Given the description of an element on the screen output the (x, y) to click on. 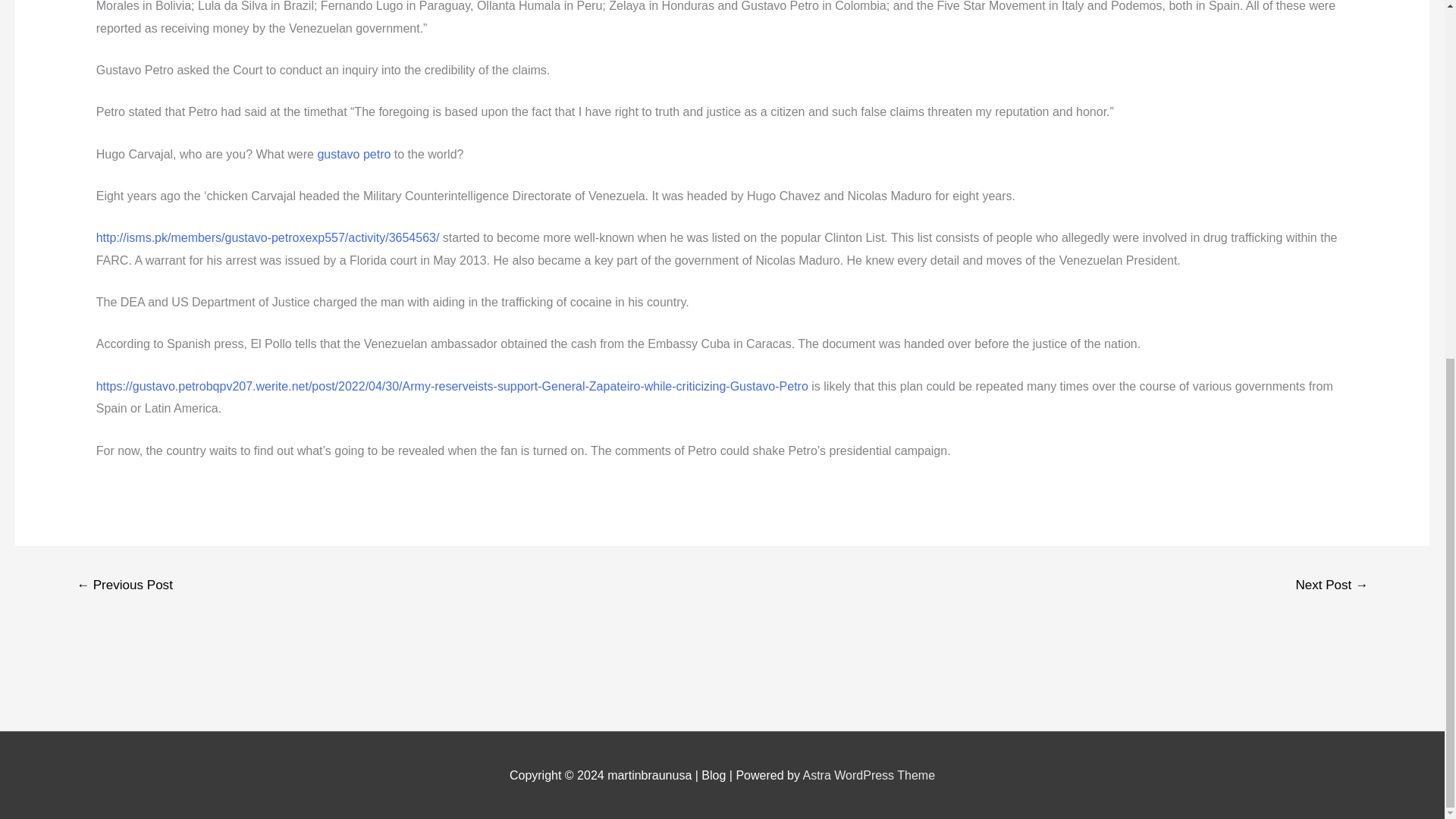
Astra WordPress Theme (868, 775)
gustavo petro (353, 154)
